Given the description of an element on the screen output the (x, y) to click on. 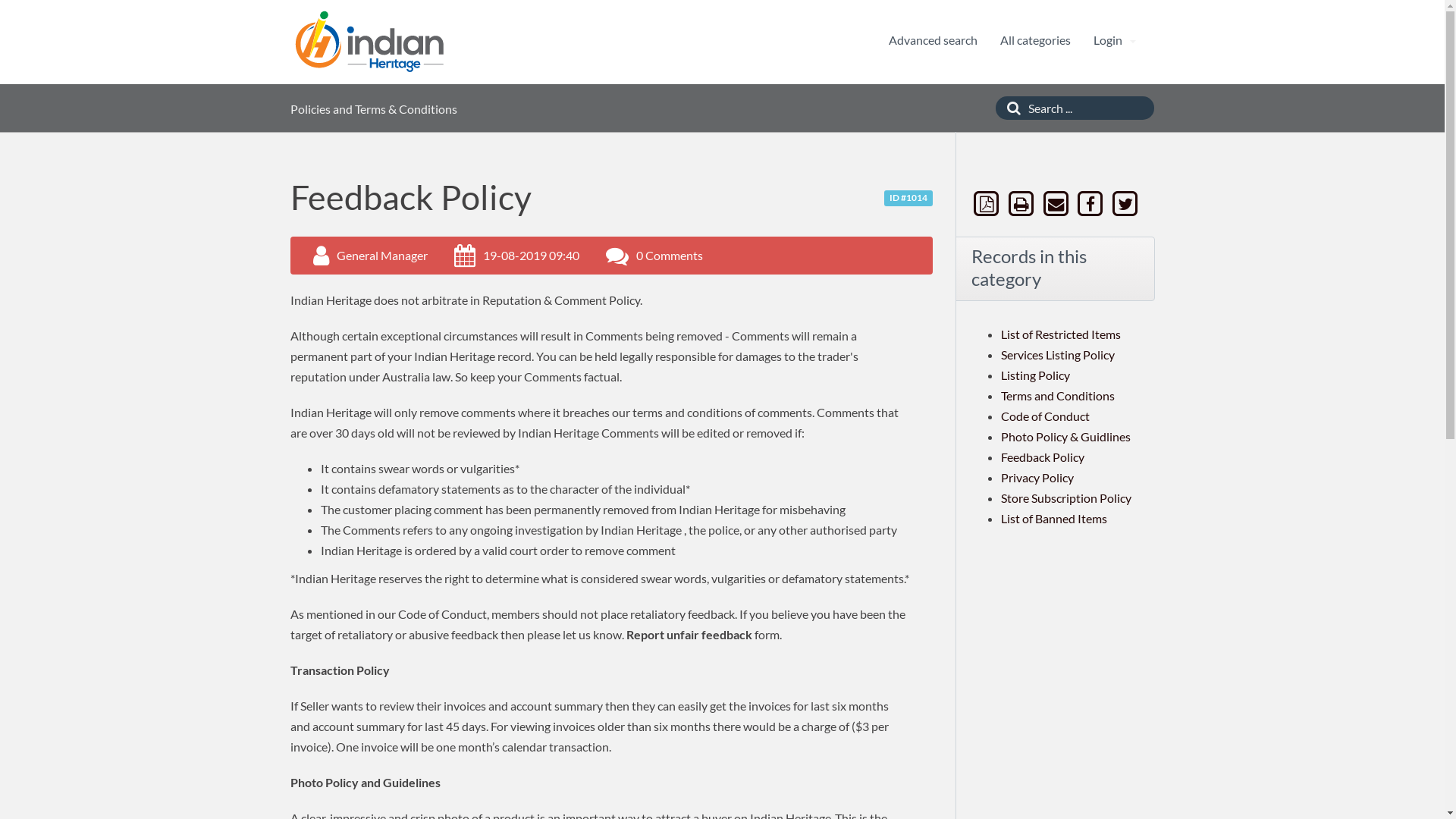
Listing Policy Element type: text (1035, 374)
ID #1014 Element type: text (908, 198)
Login Element type: text (1114, 39)
0 Comments Element type: text (668, 254)
Feedback Policy Element type: text (1042, 456)
List of Restricted Items Element type: text (1060, 333)
Send FAQ to a friend Element type: hover (1056, 203)
Code of Conduct Element type: text (1045, 415)
Policies and Terms & Conditions Element type: text (372, 108)
Store Subscription Policy Element type: text (1066, 497)
Advanced search Element type: text (933, 39)
All categories Element type: text (1034, 39)
Indian Heritage Australia Element type: hover (368, 41)
List of Banned Items Element type: text (1054, 518)
Print this record Element type: hover (1022, 203)
Terms and Conditions Element type: text (1057, 395)
PDF version Element type: hover (987, 203)
Photo Policy & Guidlines Element type: text (1065, 436)
Services Listing Policy Element type: text (1057, 354)
Privacy Policy Element type: text (1037, 477)
